Given the description of an element on the screen output the (x, y) to click on. 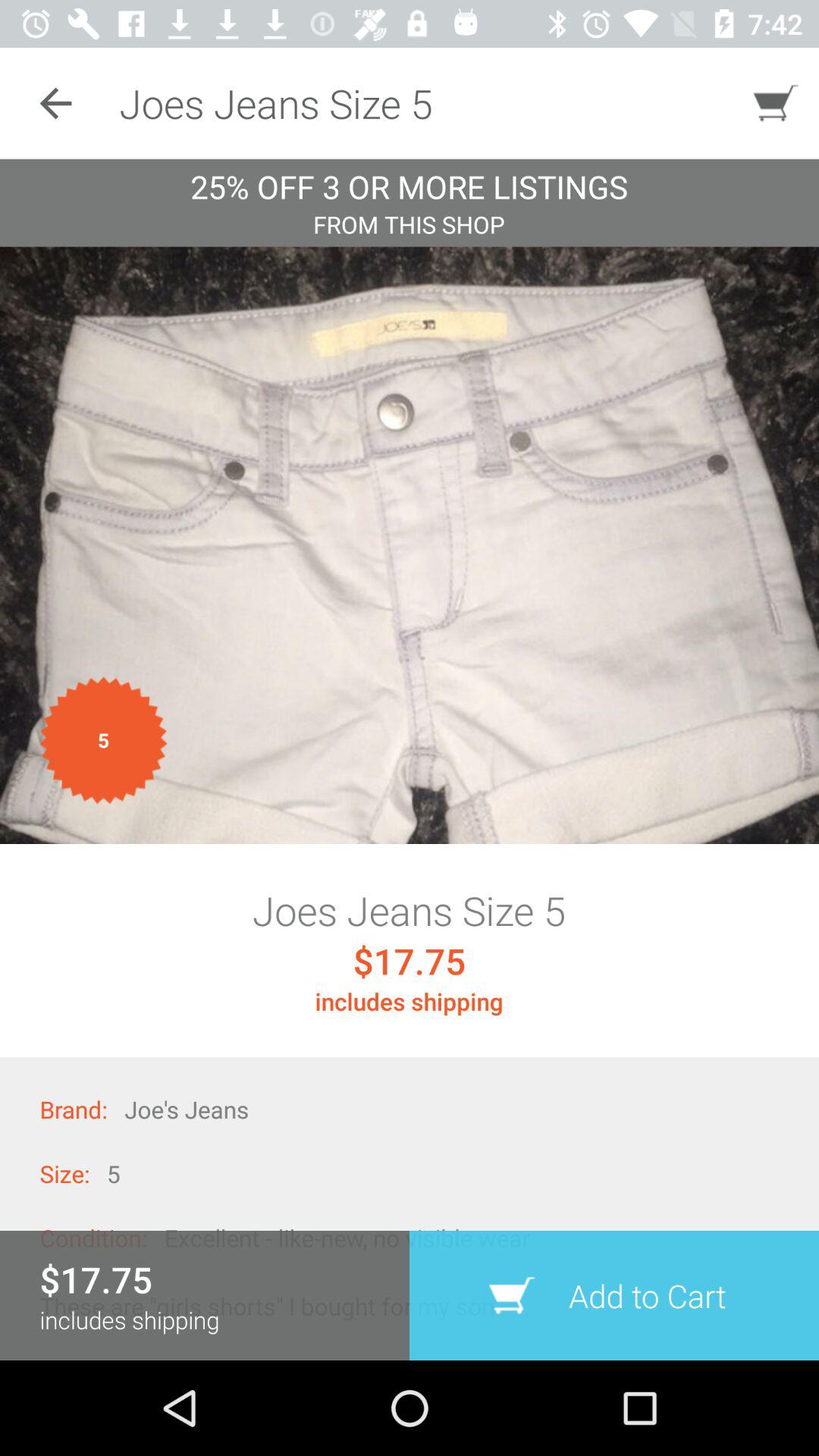
click the add to cart icon (614, 1295)
